Given the description of an element on the screen output the (x, y) to click on. 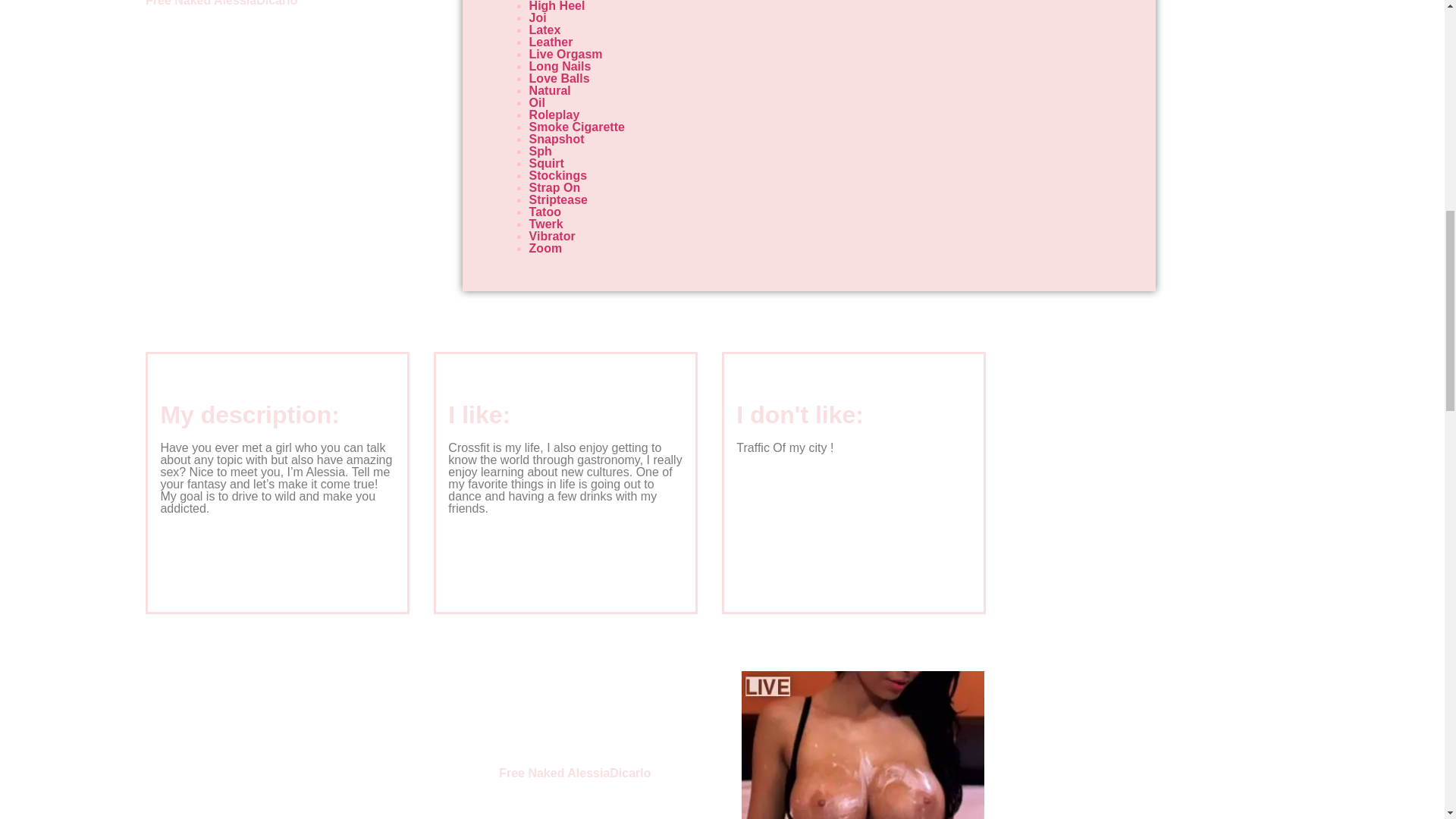
Sph (540, 151)
High Heel (557, 6)
Natural (549, 90)
Strap On (554, 187)
Striptease (558, 199)
Squirt (546, 163)
Joi (538, 17)
Tatoo (544, 211)
Zoom (545, 247)
Joi (538, 17)
Snapshot (557, 138)
Love Balls (559, 78)
Twerk (546, 223)
Oil (536, 102)
Free Naked AlessiaDicarlo (574, 772)
